Given the description of an element on the screen output the (x, y) to click on. 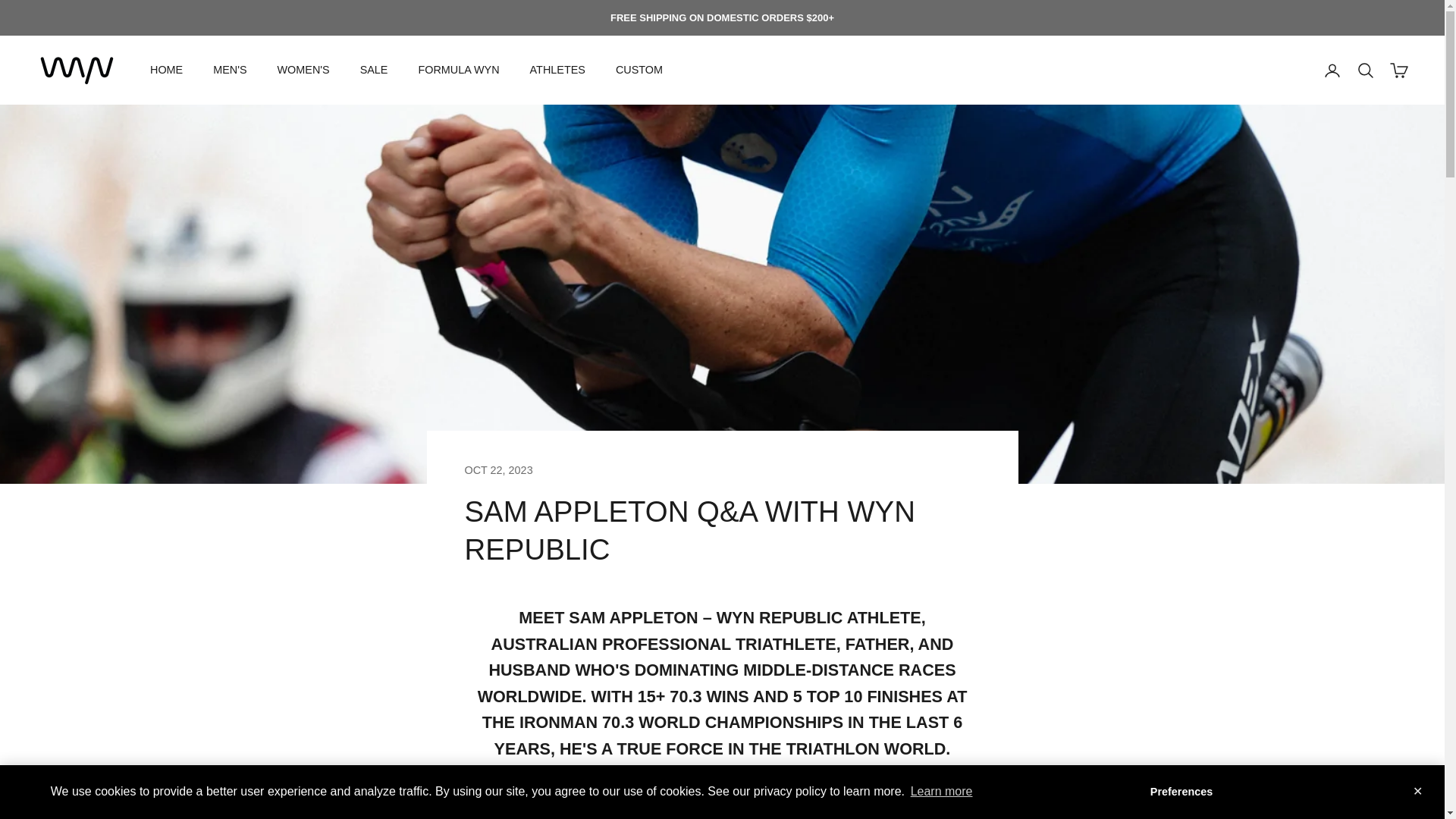
HOME (166, 69)
Decline (1371, 791)
WYN republic (77, 70)
Learn more (940, 791)
Continue (1261, 791)
Preferences (1181, 791)
Ok (1318, 791)
